Given the description of an element on the screen output the (x, y) to click on. 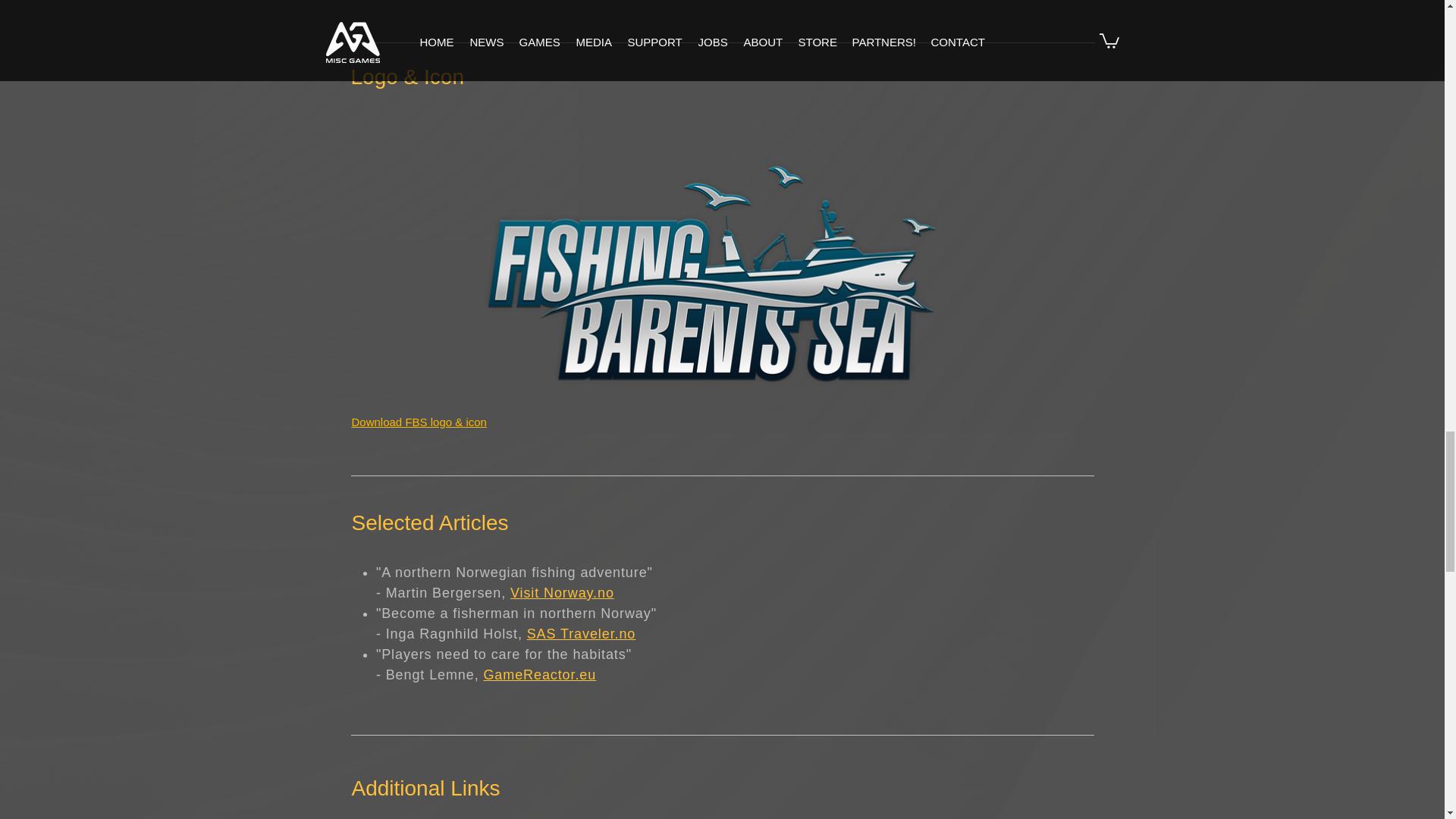
SAS Traveler.no (581, 633)
GameReactor.eu (539, 674)
Visit Norway.no (562, 592)
